Given the description of an element on the screen output the (x, y) to click on. 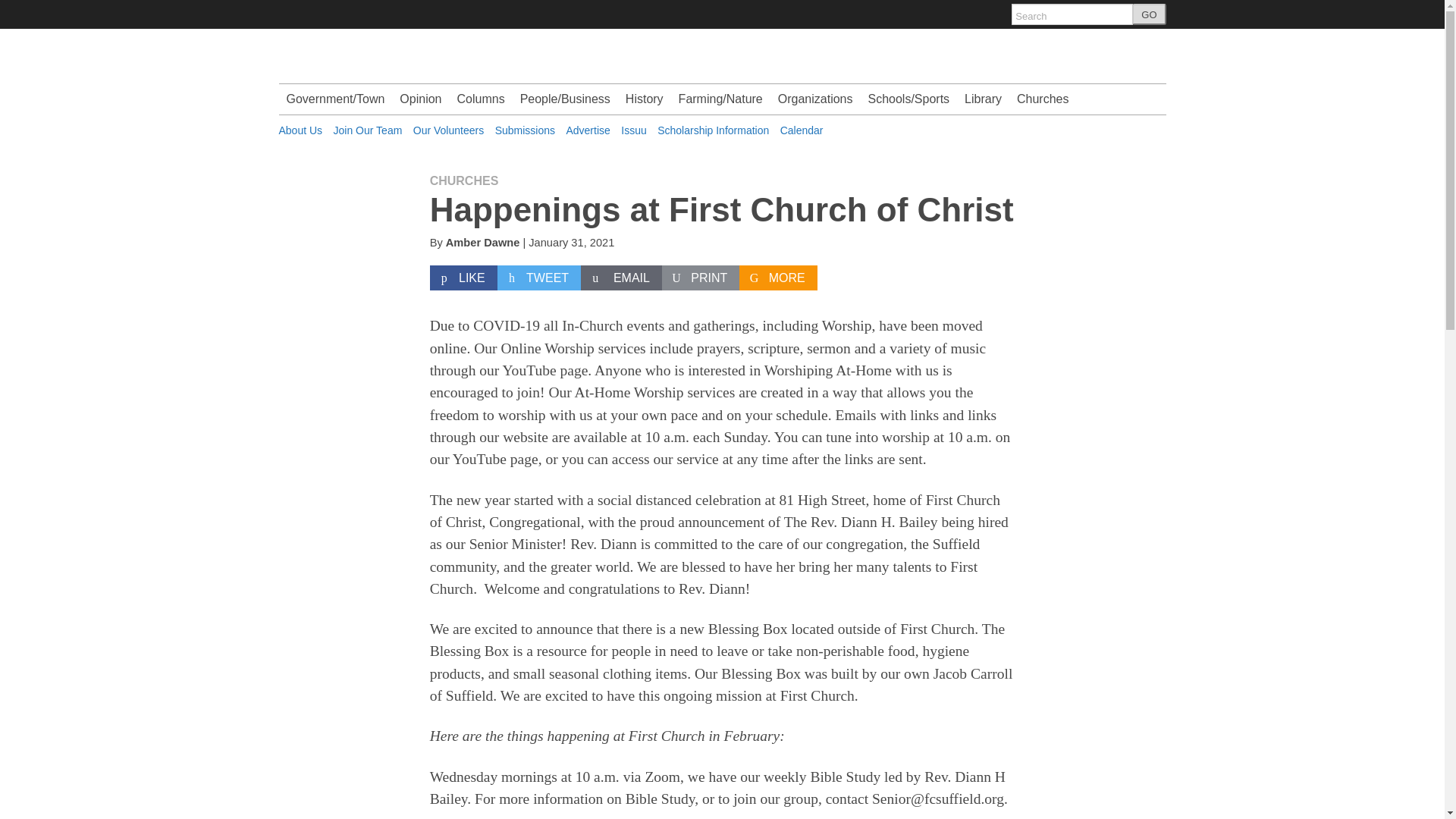
Amber Dawne (482, 242)
Issuu (633, 130)
CHURCHES (464, 180)
Advertise (588, 130)
History (644, 99)
Organizations (815, 99)
Join Our Team (368, 130)
Print this article (700, 278)
Library (982, 99)
Our Volunteers (448, 130)
